Given the description of an element on the screen output the (x, y) to click on. 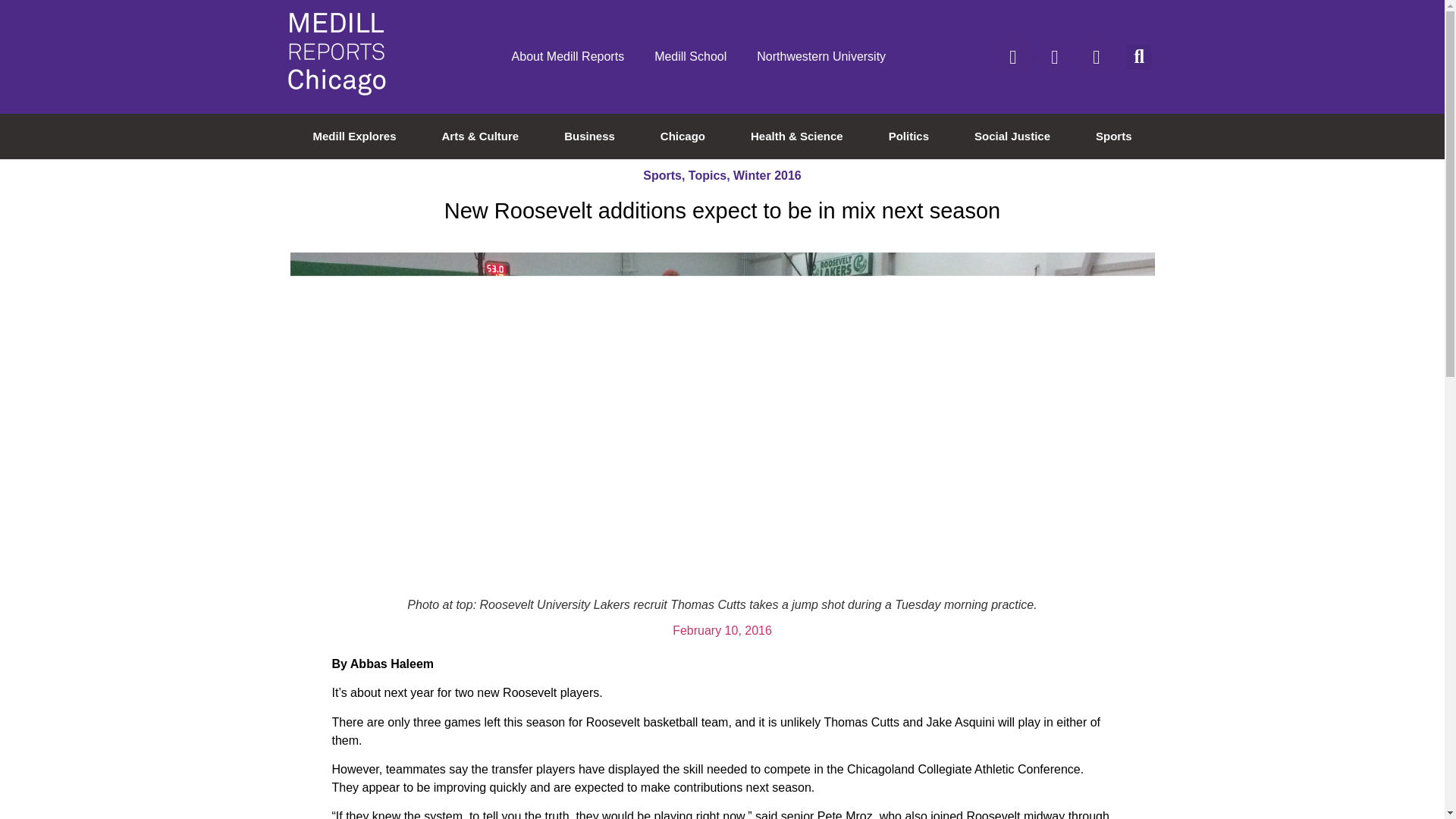
Medill School (690, 56)
About Medill Reports (568, 56)
Medill Explores (354, 135)
Northwestern University (821, 56)
